Given the description of an element on the screen output the (x, y) to click on. 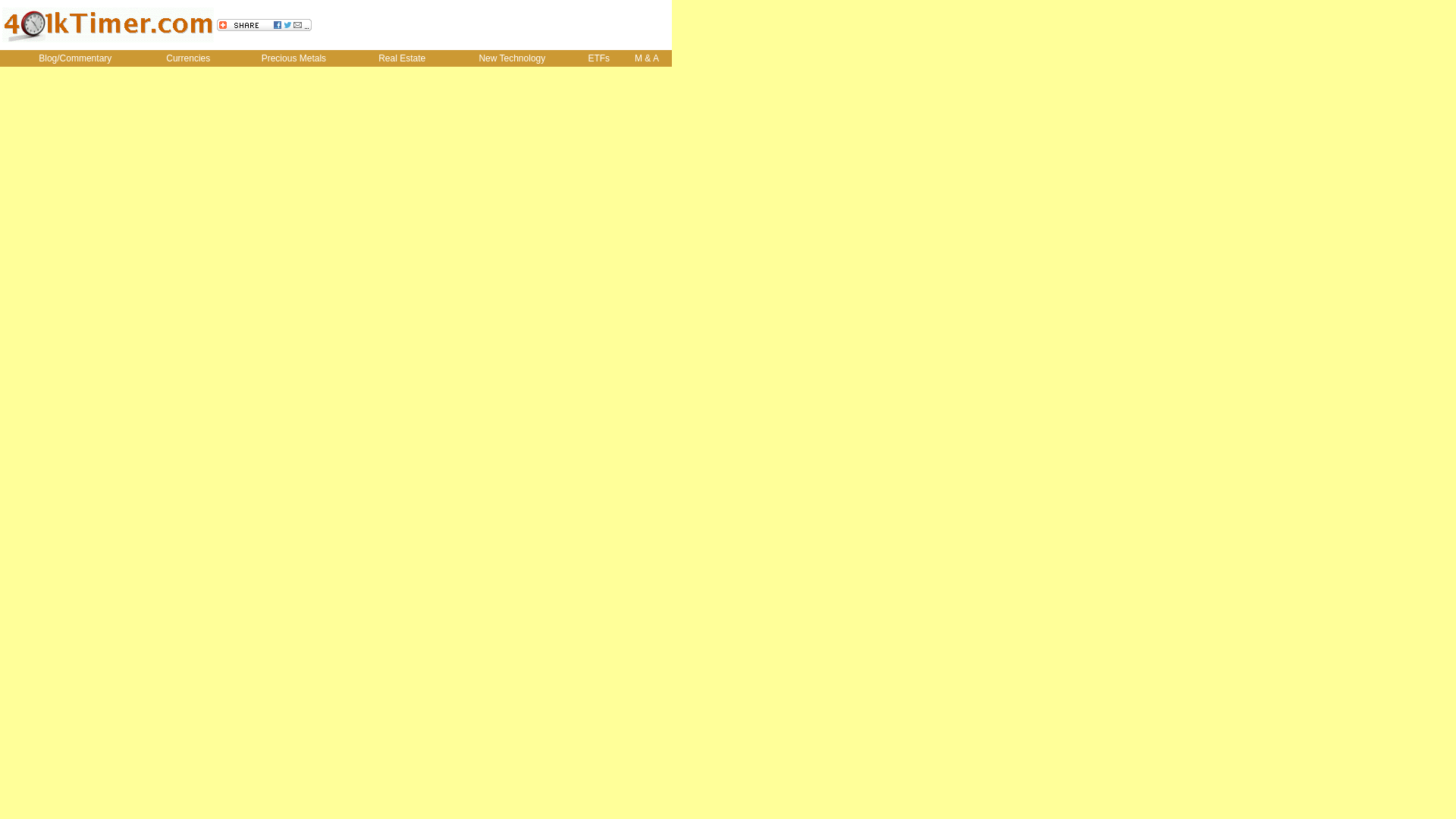
Advertisement Element type: hover (491, 24)
ETFs Element type: text (598, 58)
Precious Metals Element type: text (293, 58)
Real Estate Element type: text (401, 58)
Blog/Commentary Element type: text (74, 58)
Currencies Element type: text (187, 58)
New Technology Element type: text (511, 58)
M & A Element type: text (646, 58)
